Given the description of an element on the screen output the (x, y) to click on. 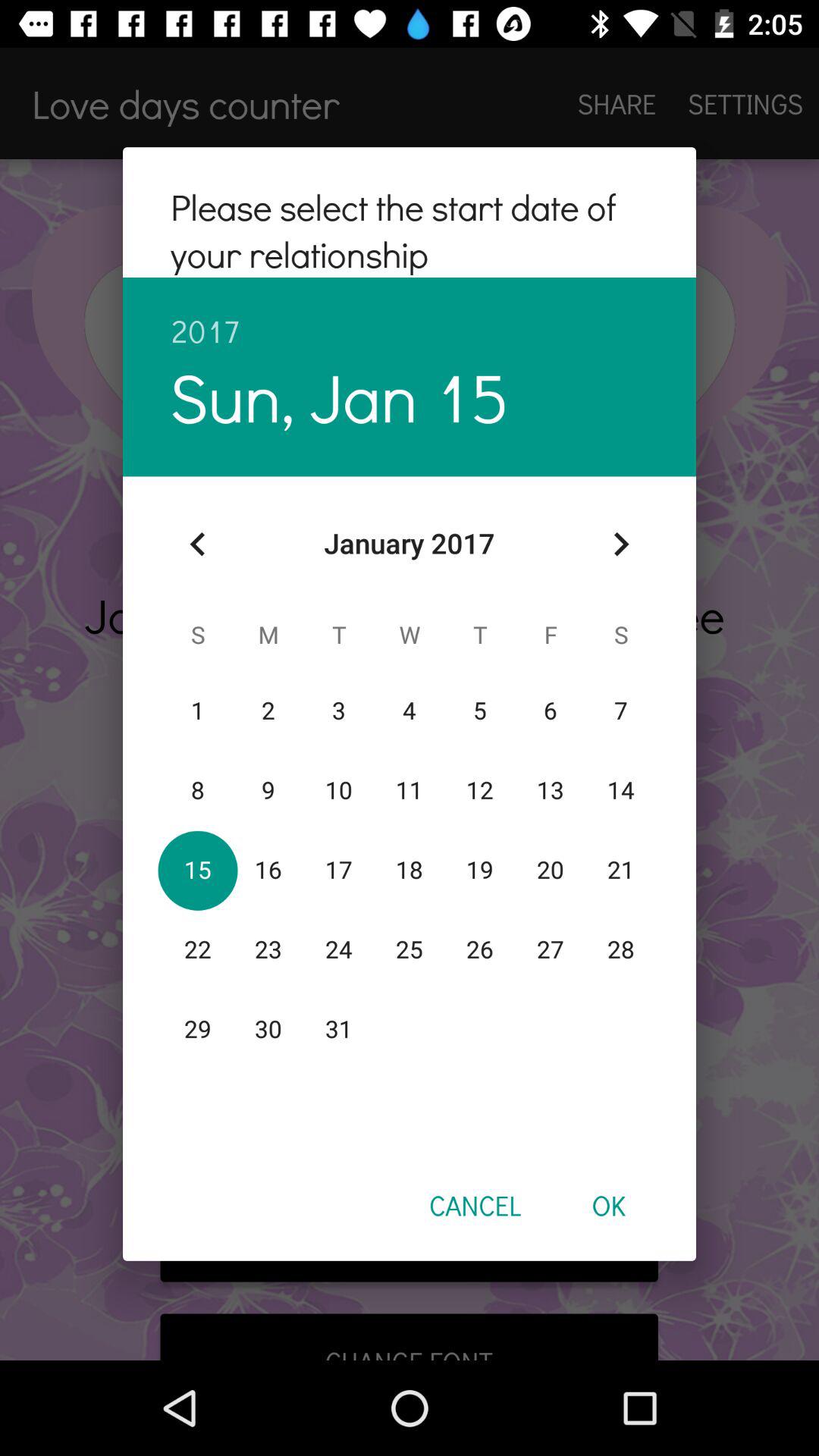
select item below the sun, jan 15 (197, 544)
